Given the description of an element on the screen output the (x, y) to click on. 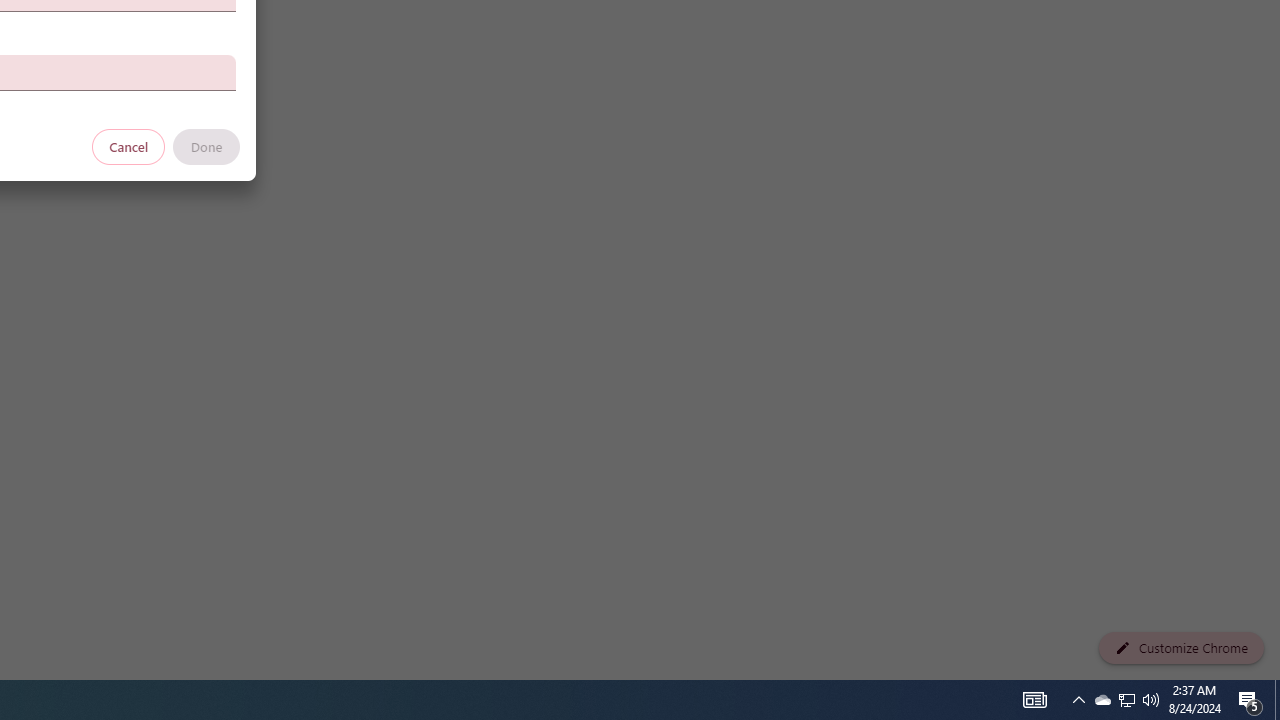
Done (206, 146)
Cancel (129, 146)
